Given the description of an element on the screen output the (x, y) to click on. 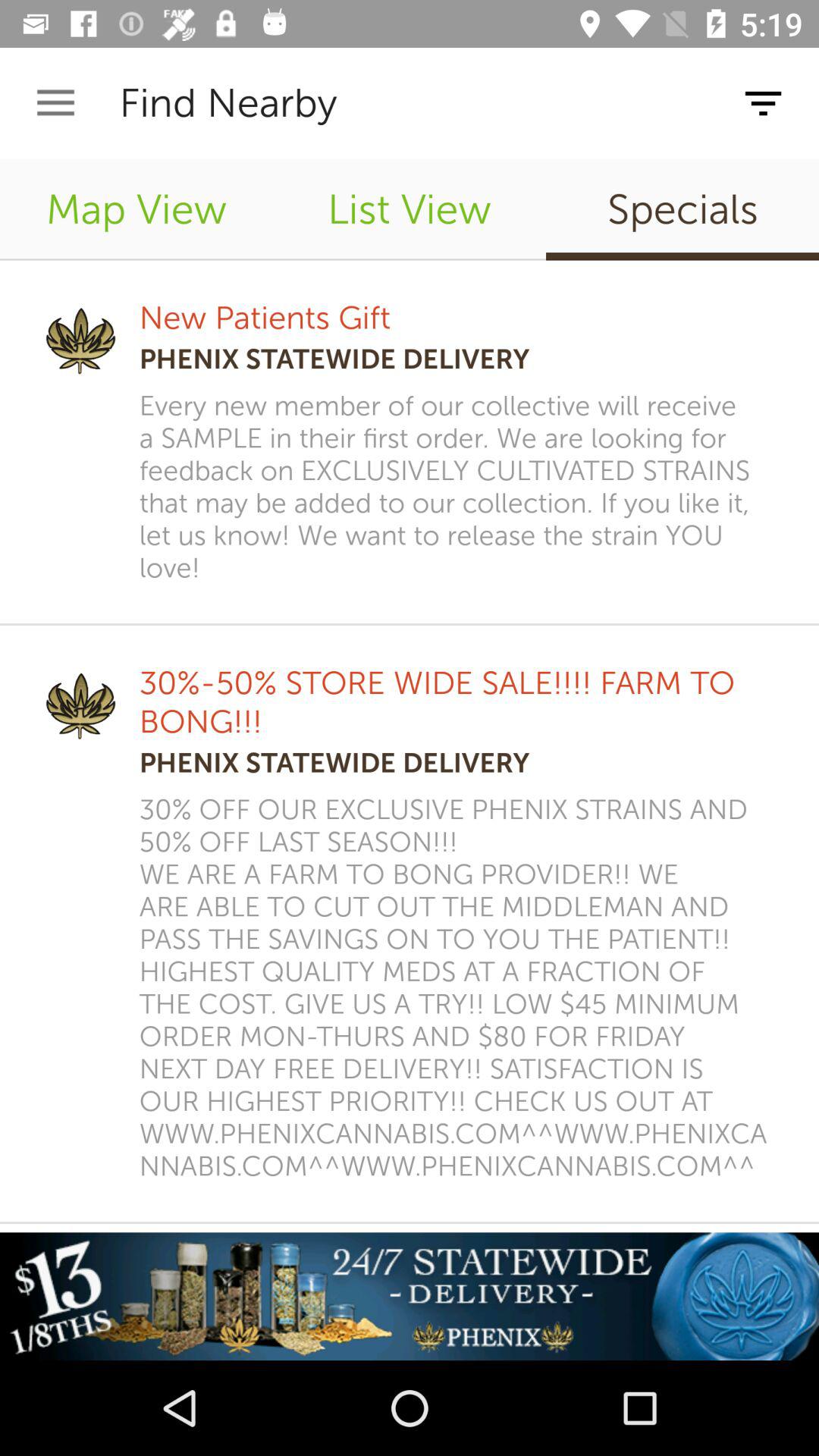
turn on icon above phenix statewide delivery item (264, 317)
